Given the description of an element on the screen output the (x, y) to click on. 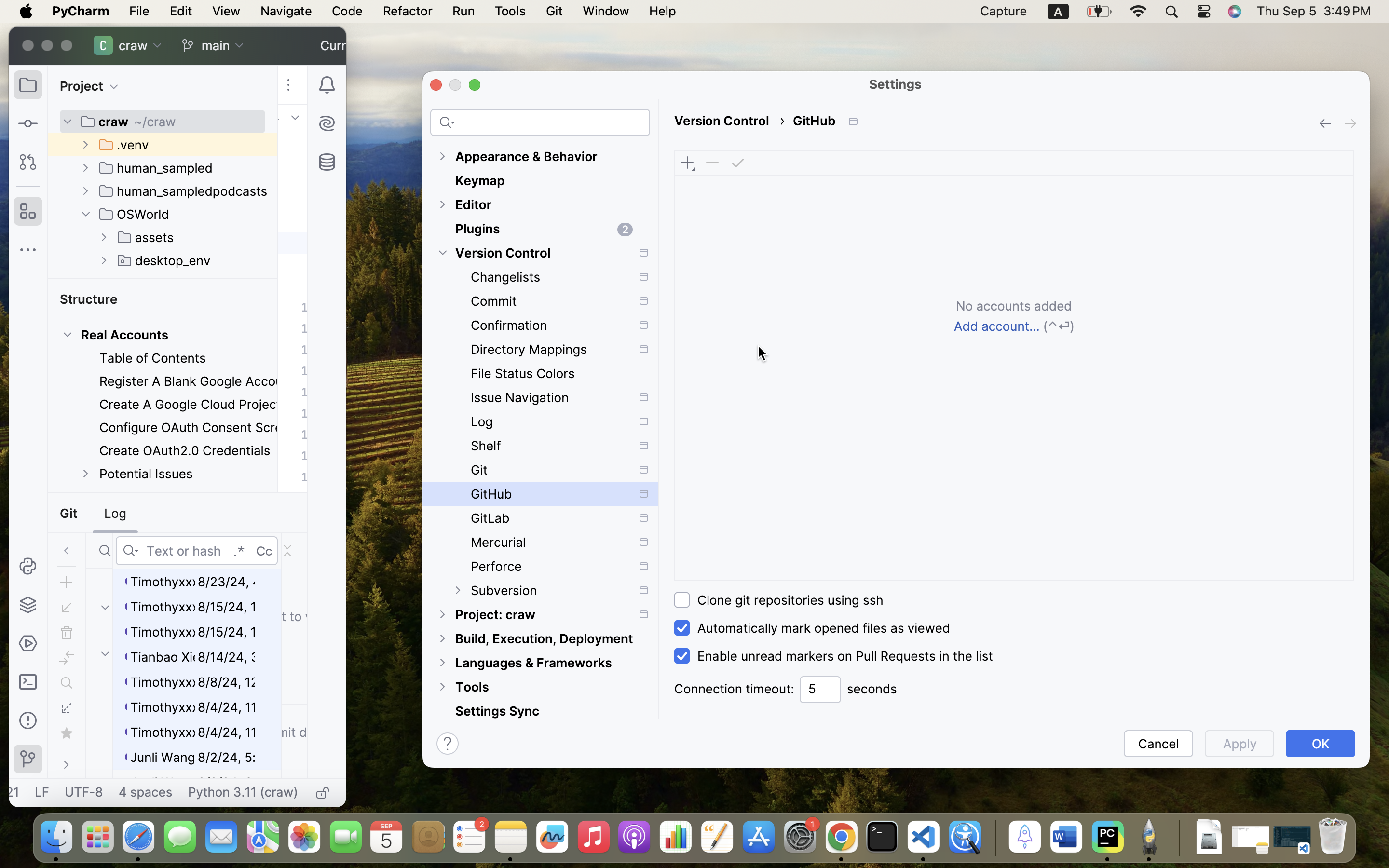
5 Element type: AXTextField (820, 689)
seconds Element type: AXStaticText (871, 688)
1 Element type: AXCheckBox (831, 656)
